Given the description of an element on the screen output the (x, y) to click on. 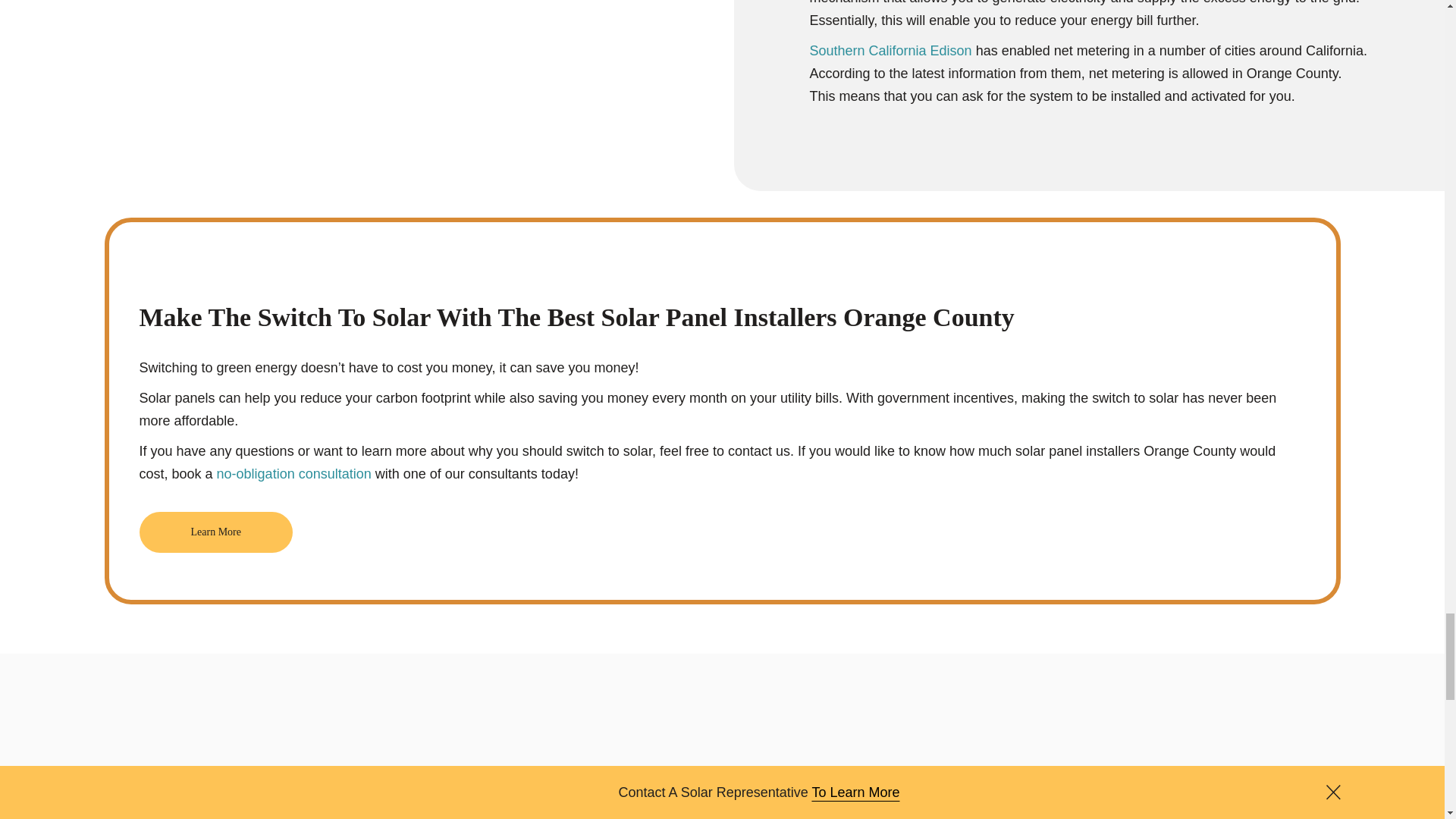
Start Your Solar Consultation Today! (215, 531)
